Given the description of an element on the screen output the (x, y) to click on. 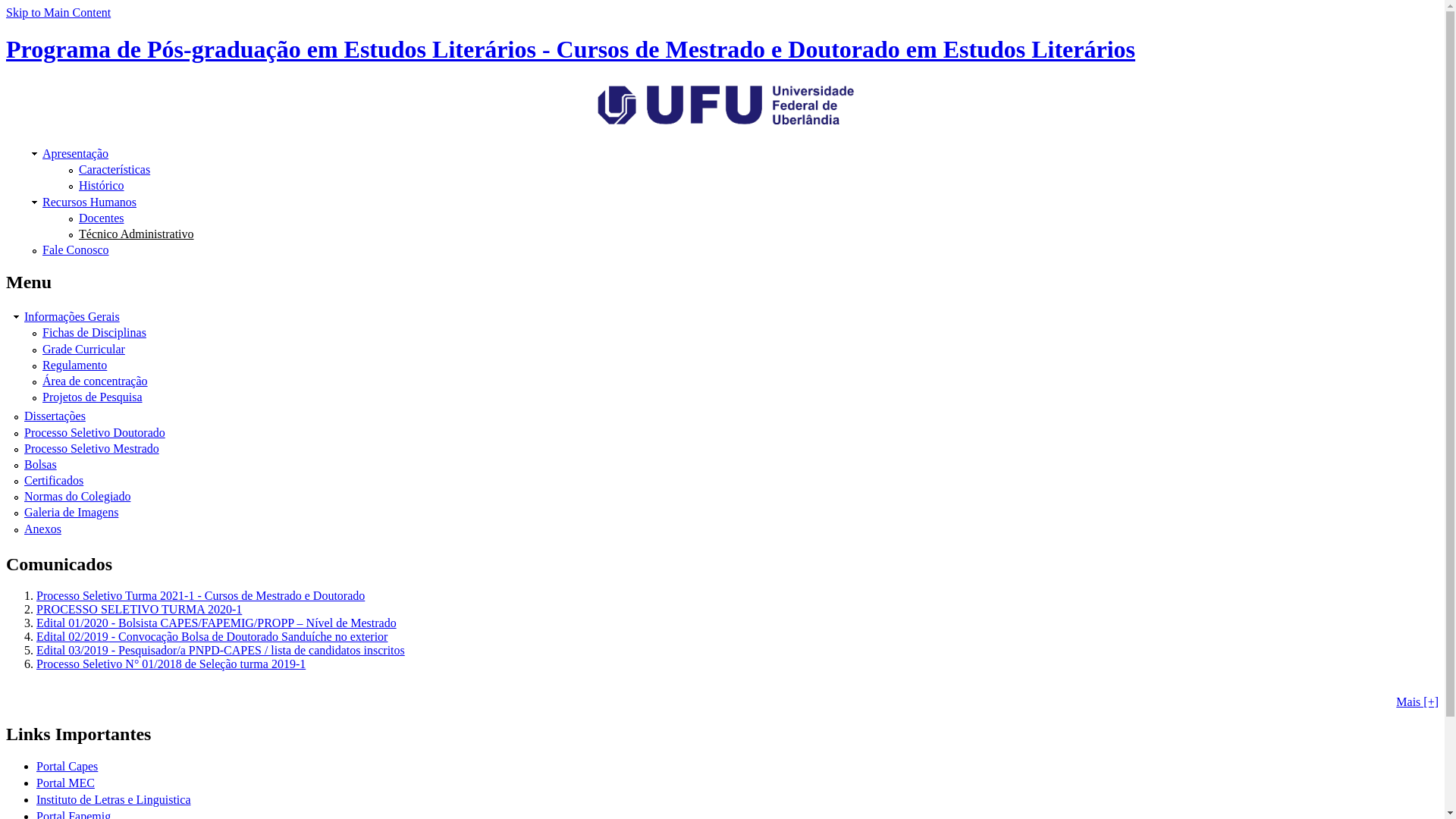
PROCESSO SELETIVO TURMA 2020-1 Element type: text (138, 608)
Portal Capes Element type: text (66, 765)
Fale Conosco Element type: text (75, 249)
Certificados Element type: text (53, 479)
Instituto de Letras e Linguistica Element type: text (113, 799)
Grade Curricular Element type: text (83, 348)
Processo Seletivo Mestrado Element type: text (91, 448)
Mais [+] Element type: text (1417, 701)
Processo Seletivo Doutorado Element type: text (94, 432)
Fichas de Disciplinas Element type: text (94, 332)
Portal MEC Element type: text (65, 782)
Docentes Element type: text (101, 217)
Galeria de Imagens Element type: text (71, 511)
Skip to Main Content Element type: text (58, 12)
Normas do Colegiado Element type: text (77, 495)
Recursos Humanos Element type: text (89, 201)
Anexos Element type: text (42, 528)
Projetos de Pesquisa Element type: text (92, 396)
Bolsas Element type: text (40, 464)
Regulamento Element type: text (74, 364)
